Given the description of an element on the screen output the (x, y) to click on. 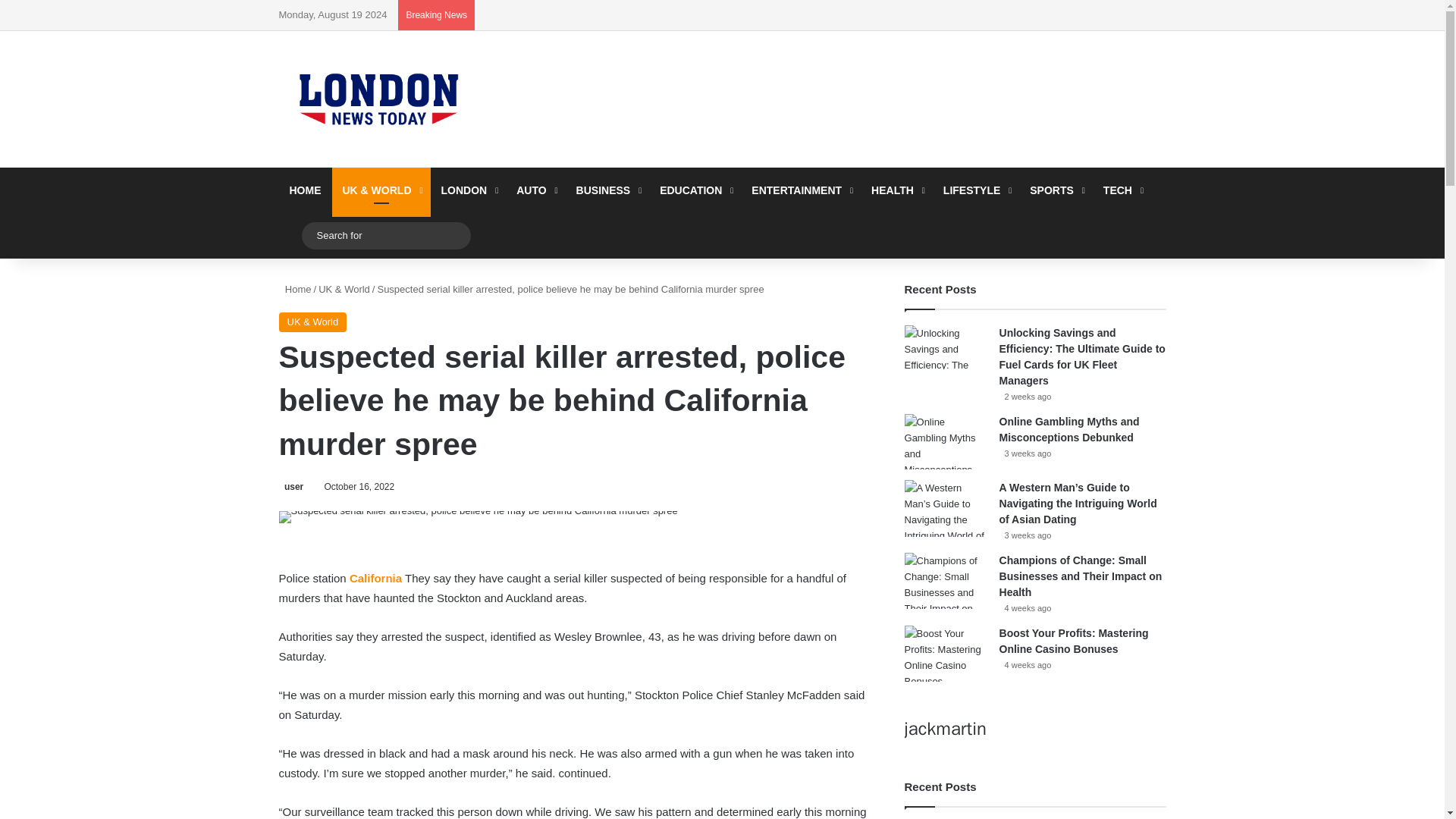
SPORTS (1056, 189)
Home (295, 288)
londonnewstime (377, 99)
user (291, 486)
Search for (454, 235)
LIFESTYLE (976, 189)
HEALTH (896, 189)
Search for (385, 235)
BUSINESS (607, 189)
TECH (1122, 189)
